Given the description of an element on the screen output the (x, y) to click on. 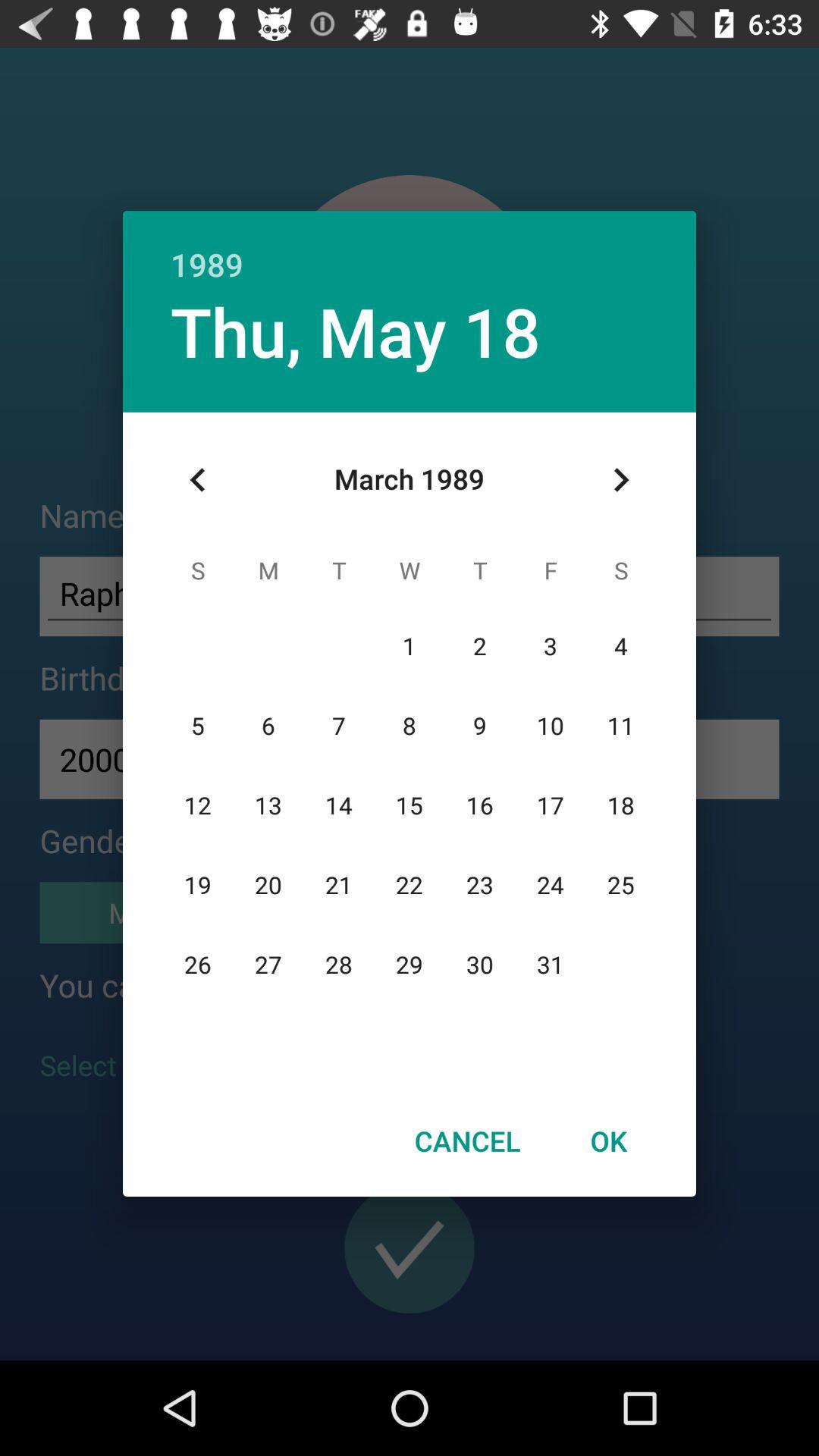
click the app below thu, may 18 icon (197, 479)
